Given the description of an element on the screen output the (x, y) to click on. 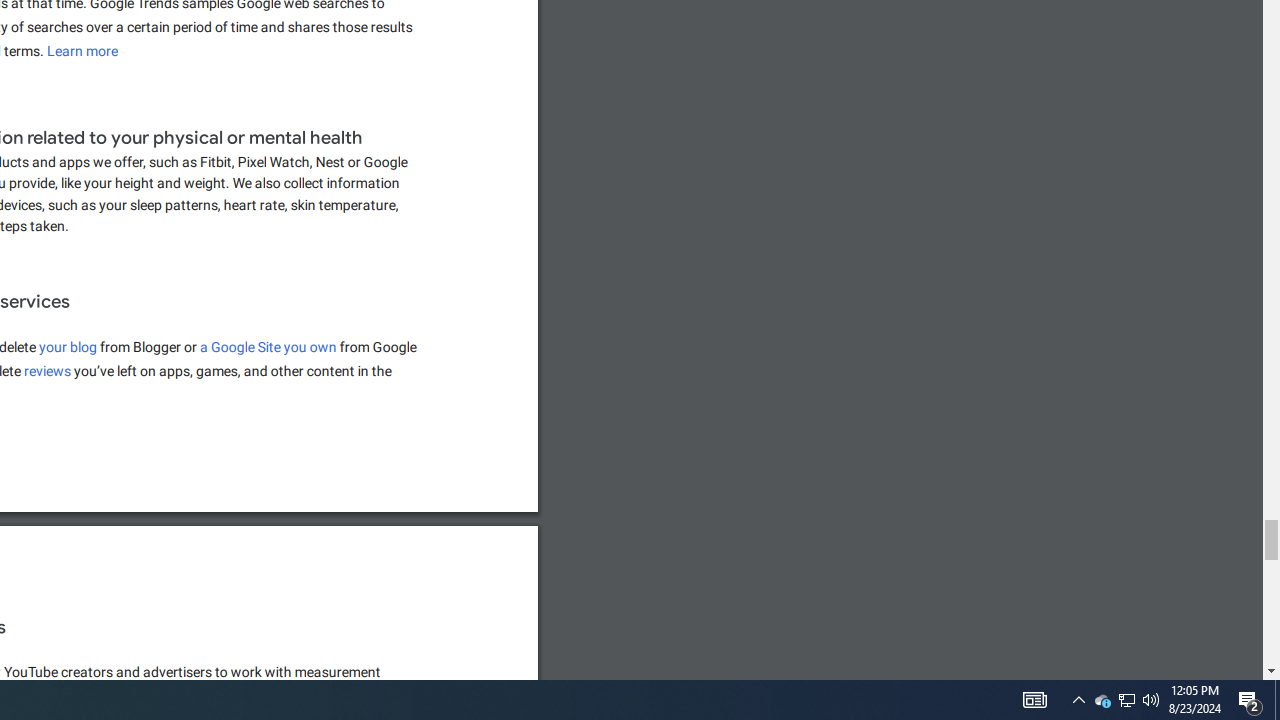
a Google Site you own (268, 347)
your blog (68, 347)
Learn more (83, 51)
reviews (47, 371)
